Given the description of an element on the screen output the (x, y) to click on. 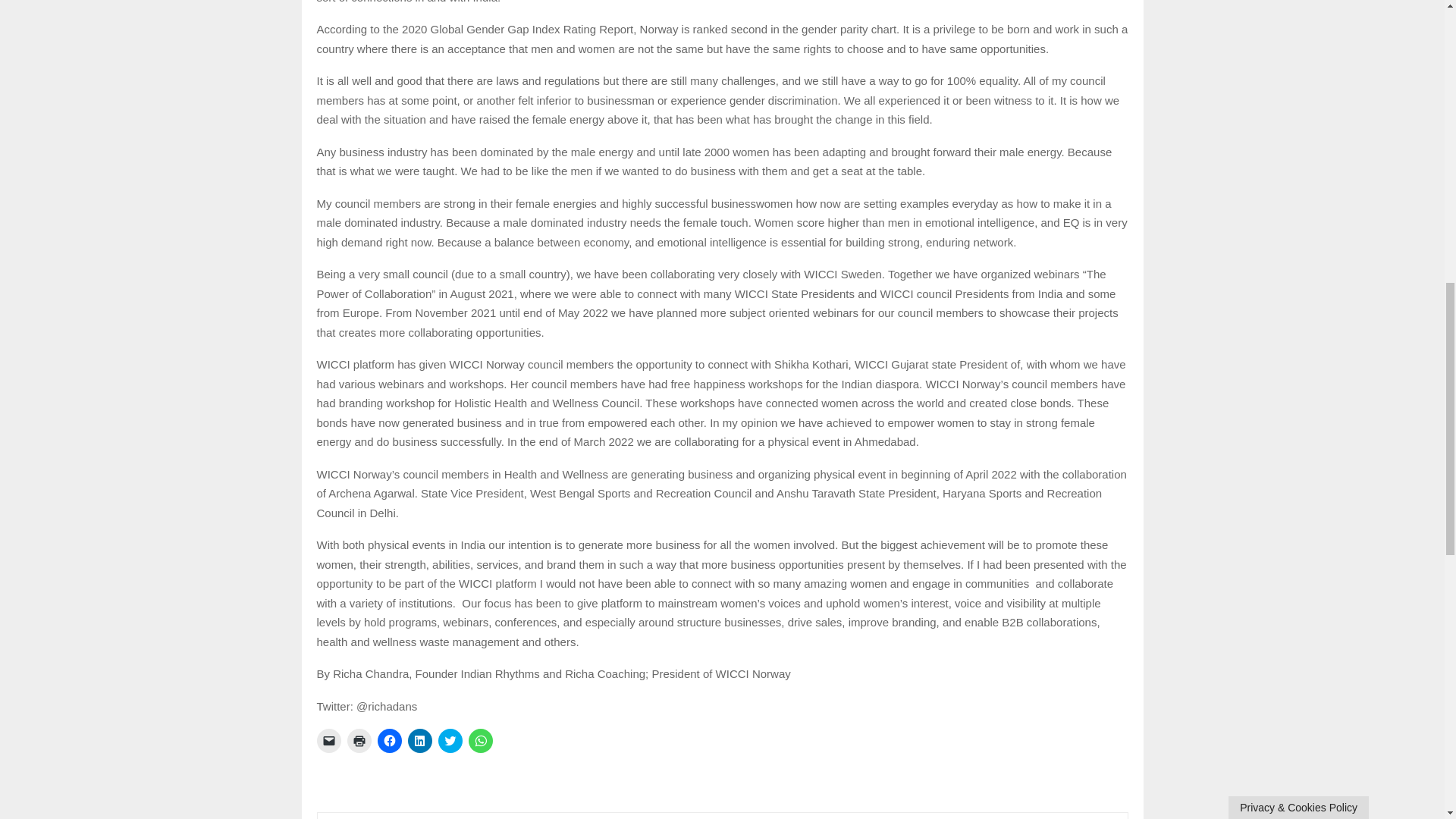
Click to share on LinkedIn (419, 740)
Click to email a link to a friend (328, 740)
Click to share on Facebook (389, 740)
Click to print (359, 740)
